Given the description of an element on the screen output the (x, y) to click on. 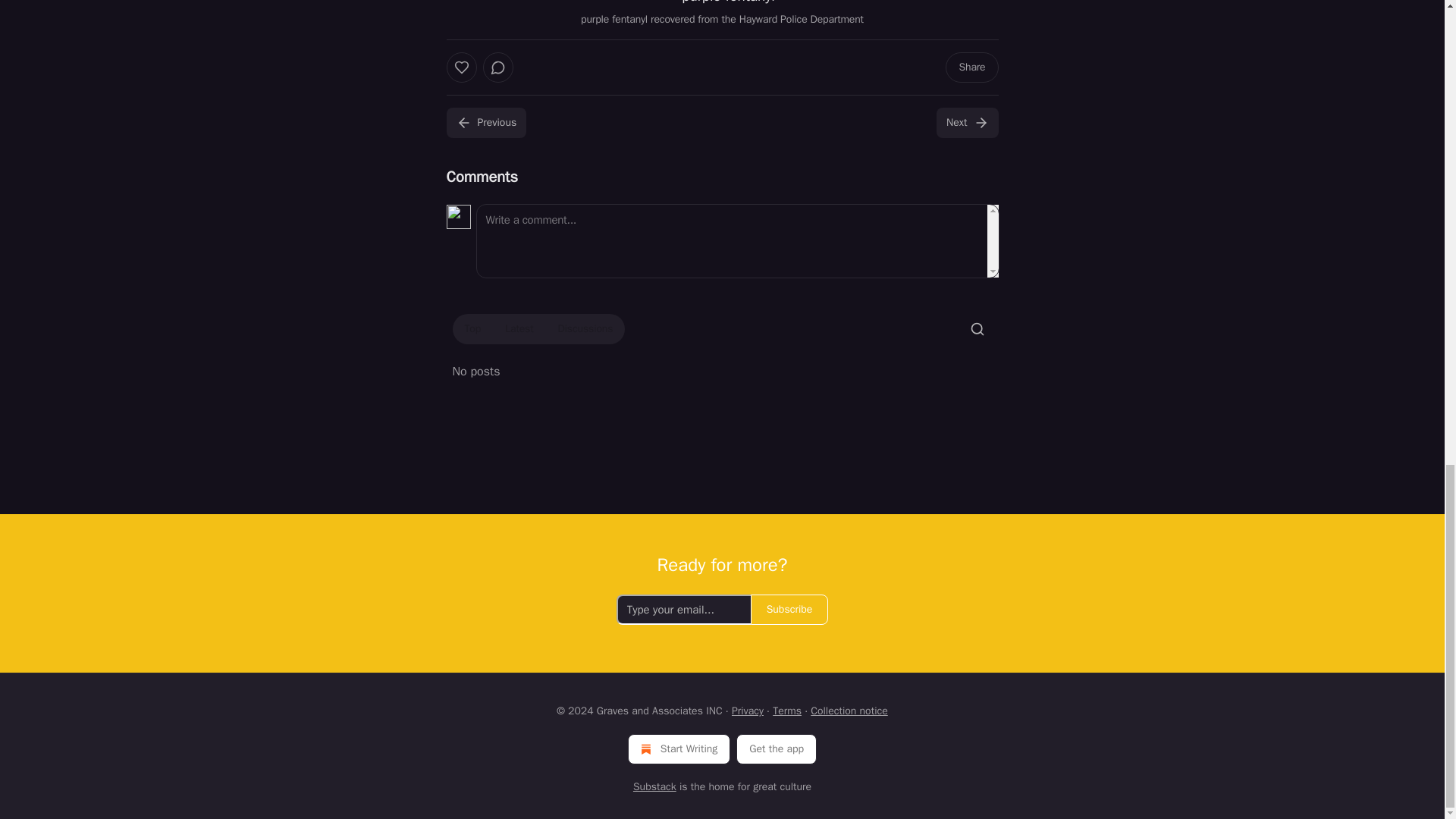
Previous (485, 122)
Share (970, 67)
purple fentanyl (721, 2)
